Given the description of an element on the screen output the (x, y) to click on. 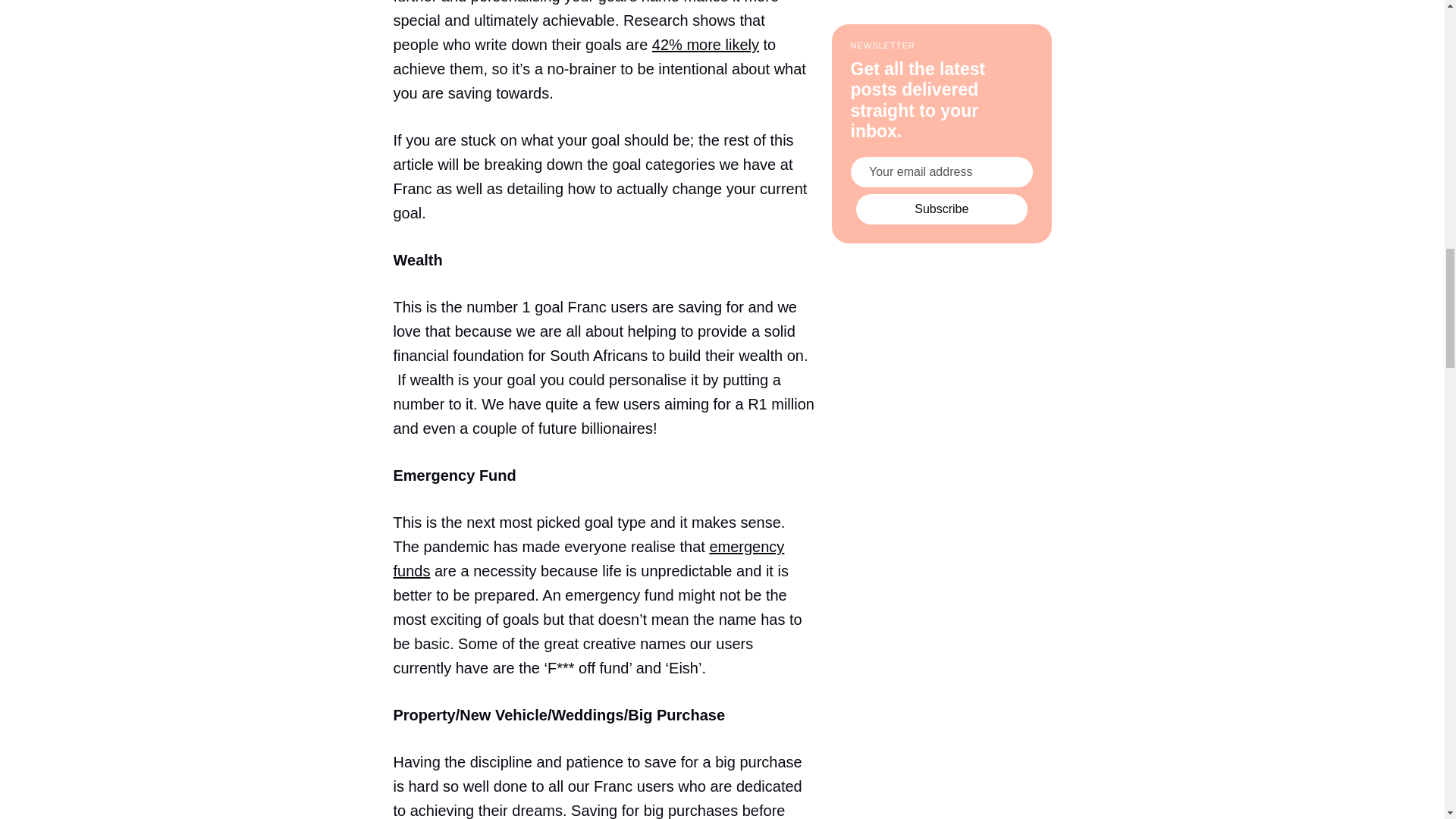
Subscribe (941, 58)
emergency funds (588, 558)
